Given the description of an element on the screen output the (x, y) to click on. 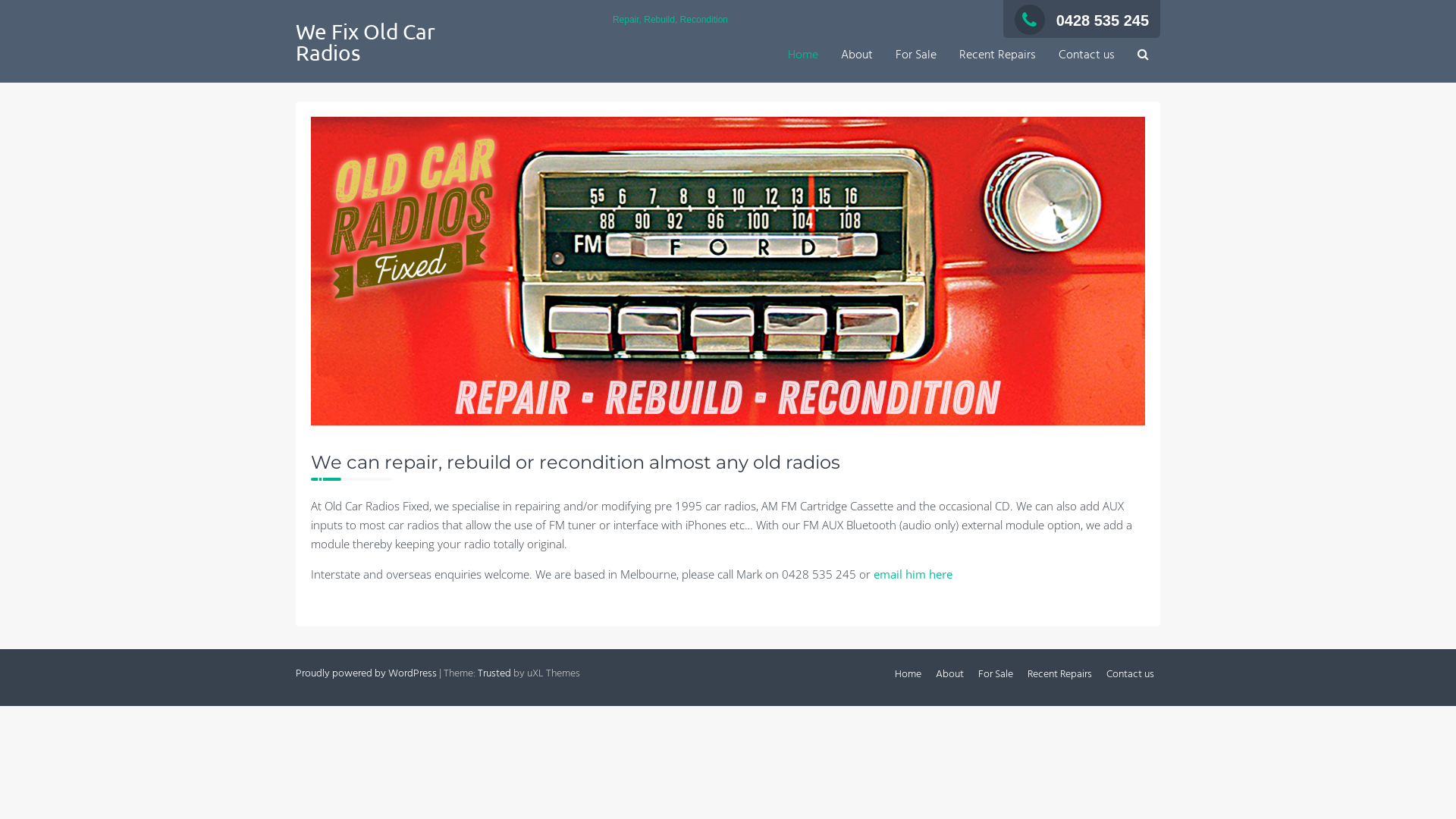
Home Element type: text (802, 55)
Recent Repairs Element type: text (1059, 674)
We Fix Old Car Radios Element type: text (365, 41)
0428 535 245 Element type: text (1081, 20)
Proudly powered by WordPress Element type: text (365, 673)
Home Element type: text (907, 674)
Search Element type: text (809, 333)
For Sale Element type: text (915, 55)
Contact us Element type: text (1086, 55)
Contact us Element type: text (1130, 674)
For Sale Element type: text (995, 674)
email him here Element type: text (912, 573)
Trusted Element type: text (494, 673)
About Element type: text (949, 674)
Recent Repairs Element type: text (997, 55)
About Element type: text (856, 55)
